Given the description of an element on the screen output the (x, y) to click on. 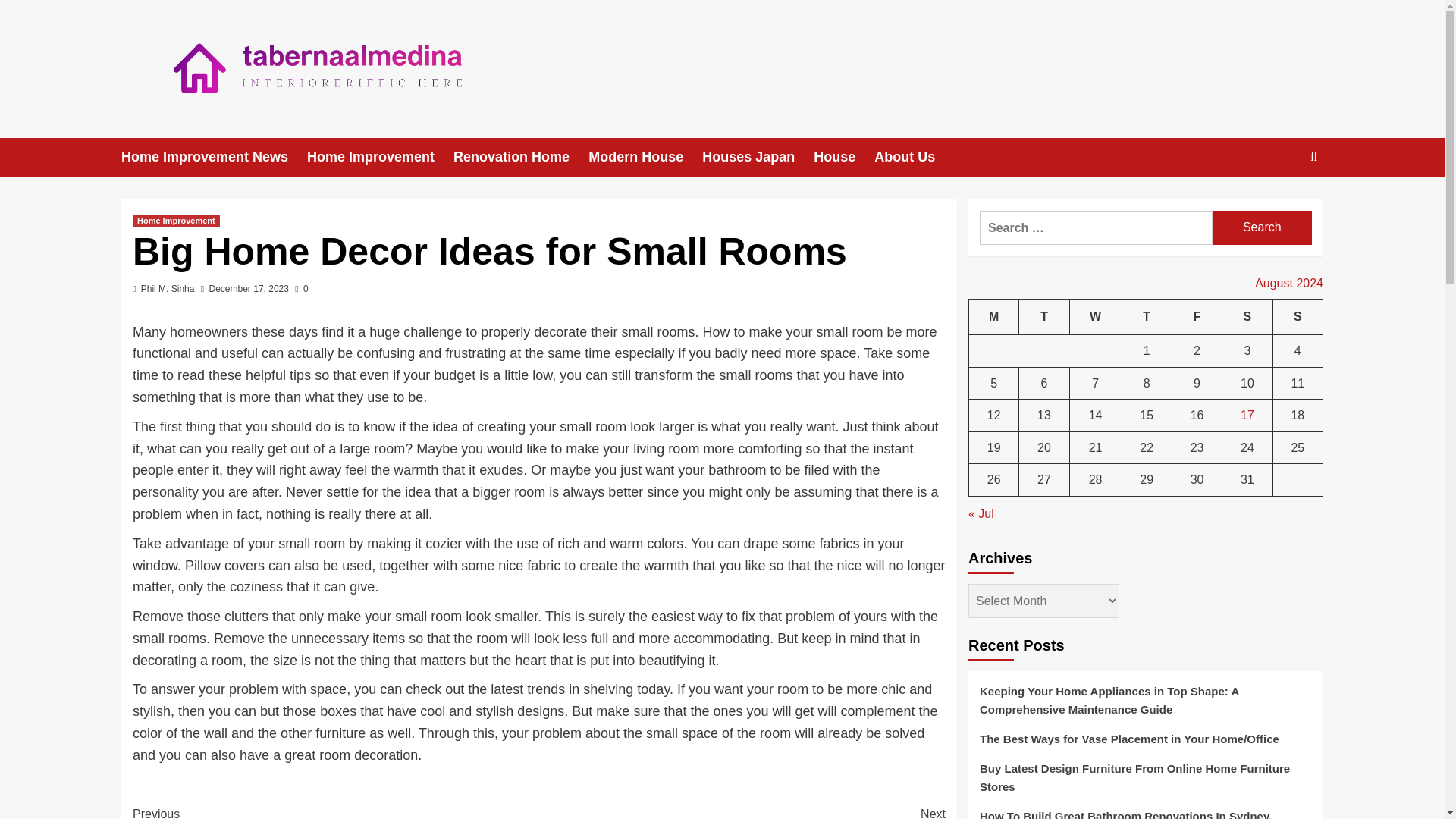
Modern House (741, 811)
Monday (644, 157)
Home Improvement (994, 316)
Tuesday (175, 220)
Saturday (1043, 316)
Search (1247, 316)
Search (1261, 227)
Wednesday (1278, 203)
